Given the description of an element on the screen output the (x, y) to click on. 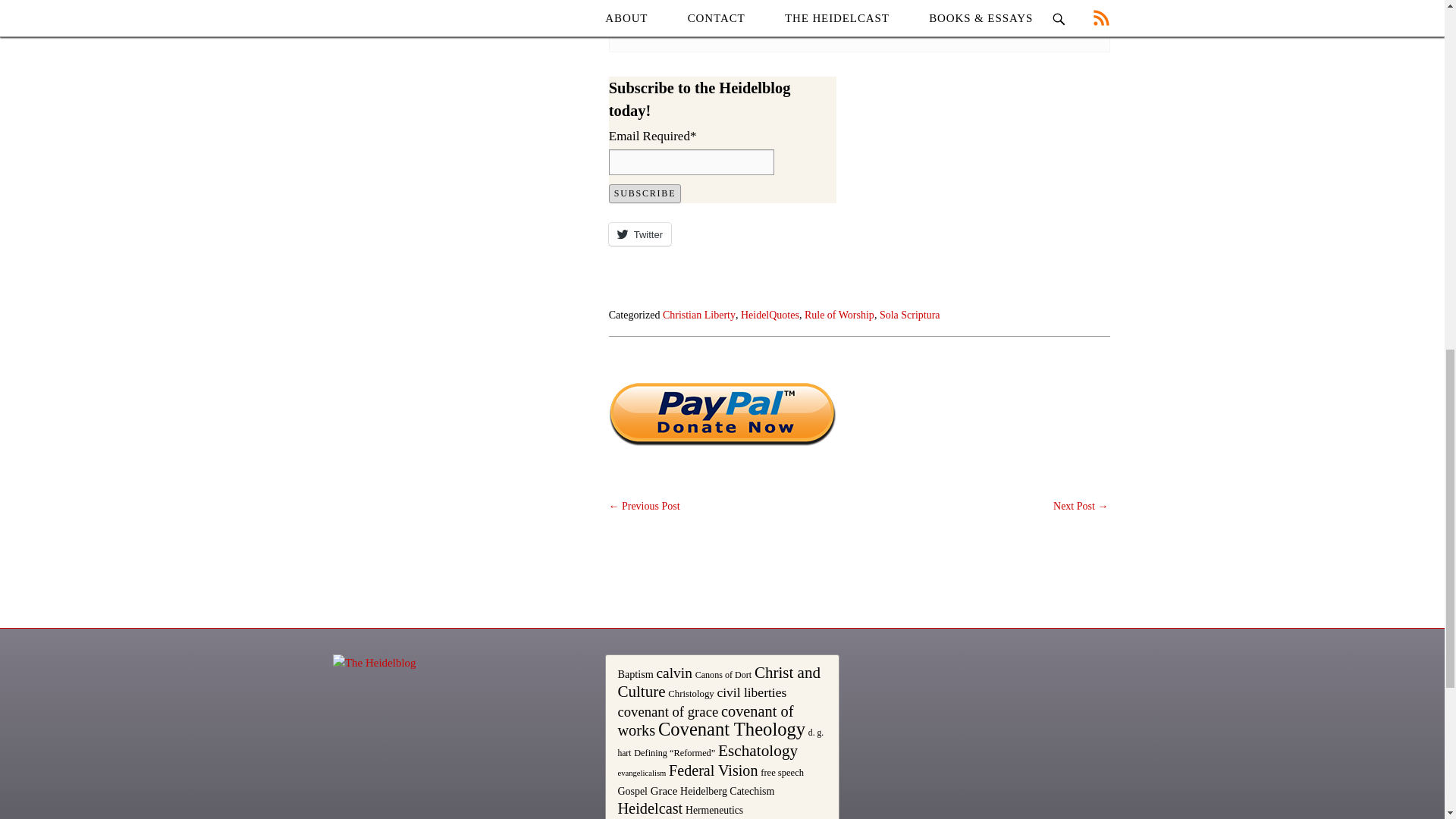
Sola Scriptura (909, 315)
Christian Liberty (698, 315)
Rule of Worship (840, 315)
Support the Heidelblog! (721, 414)
Subscribe (644, 193)
Subscribe (644, 193)
HeidelQuotes (770, 315)
Twitter (639, 233)
Click to share on Twitter (639, 233)
